Given the description of an element on the screen output the (x, y) to click on. 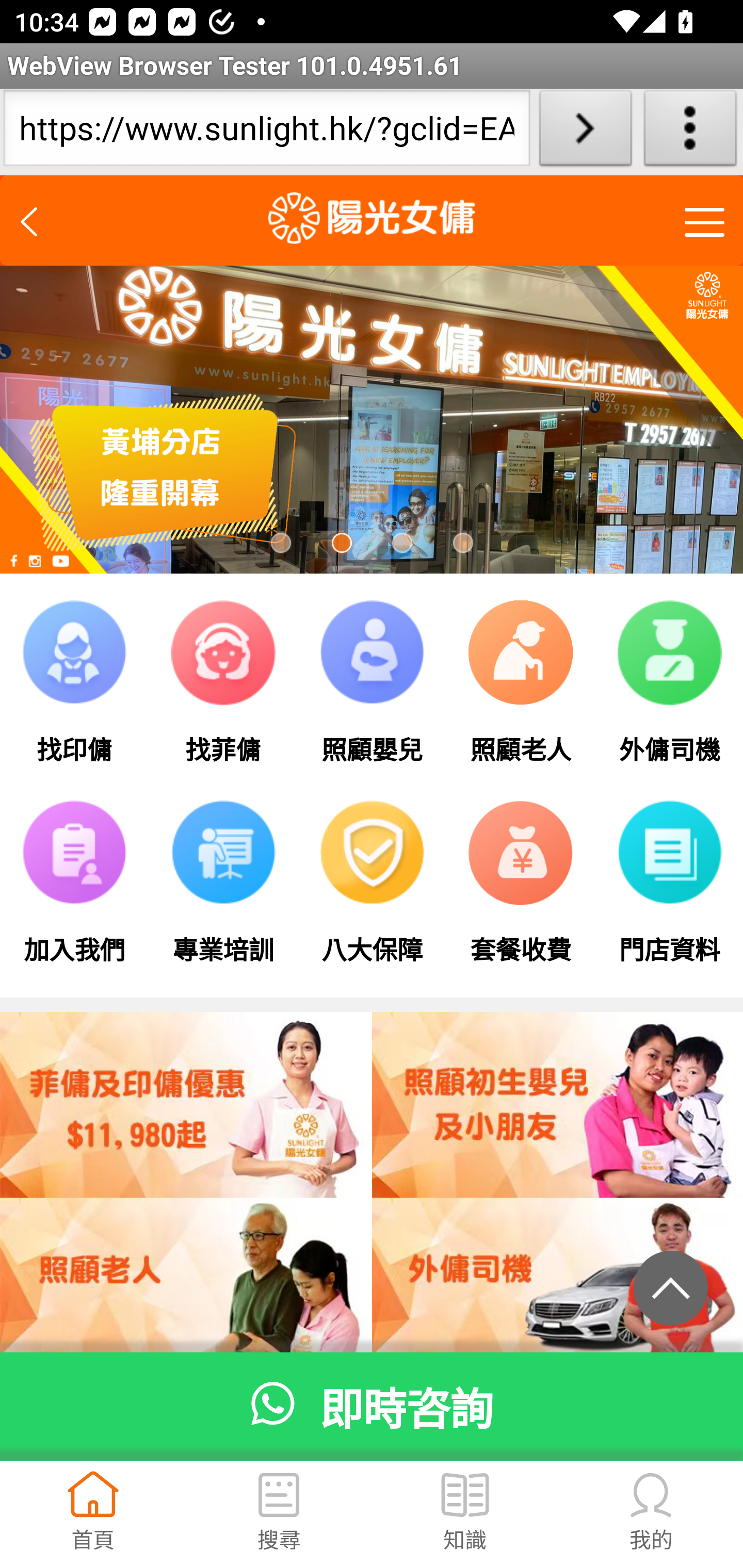
Load URL (585, 132)
About WebView (690, 132)
go_back (36, 216)
1 (281, 542)
2 (340, 542)
3 (402, 542)
4 (462, 542)
找印傭 t1 找印傭 (74, 691)
找菲傭 t2 找菲傭 (222, 691)
照顧嬰兒 t3 照顧嬰兒 (372, 691)
照顧老人 t23 照顧老人 (520, 691)
外傭司機 t24 外傭司機 (668, 691)
加入我們 t6 加入我們 (74, 891)
專業培訓 t7 專業培訓 (222, 891)
八大保障 t8_01 八大保障 (372, 891)
套餐收費 t9 套餐收費 (520, 891)
門店資料 t10 門店資料 (668, 891)
海外護理員 (186, 1104)
外傭司機 (557, 1104)
照顧嬰兒 (186, 1290)
照顧老人 (557, 1290)
go_top (670, 1287)
home-select (92, 1497)
order (278, 1497)
information (464, 1497)
my (650, 1497)
